Given the description of an element on the screen output the (x, y) to click on. 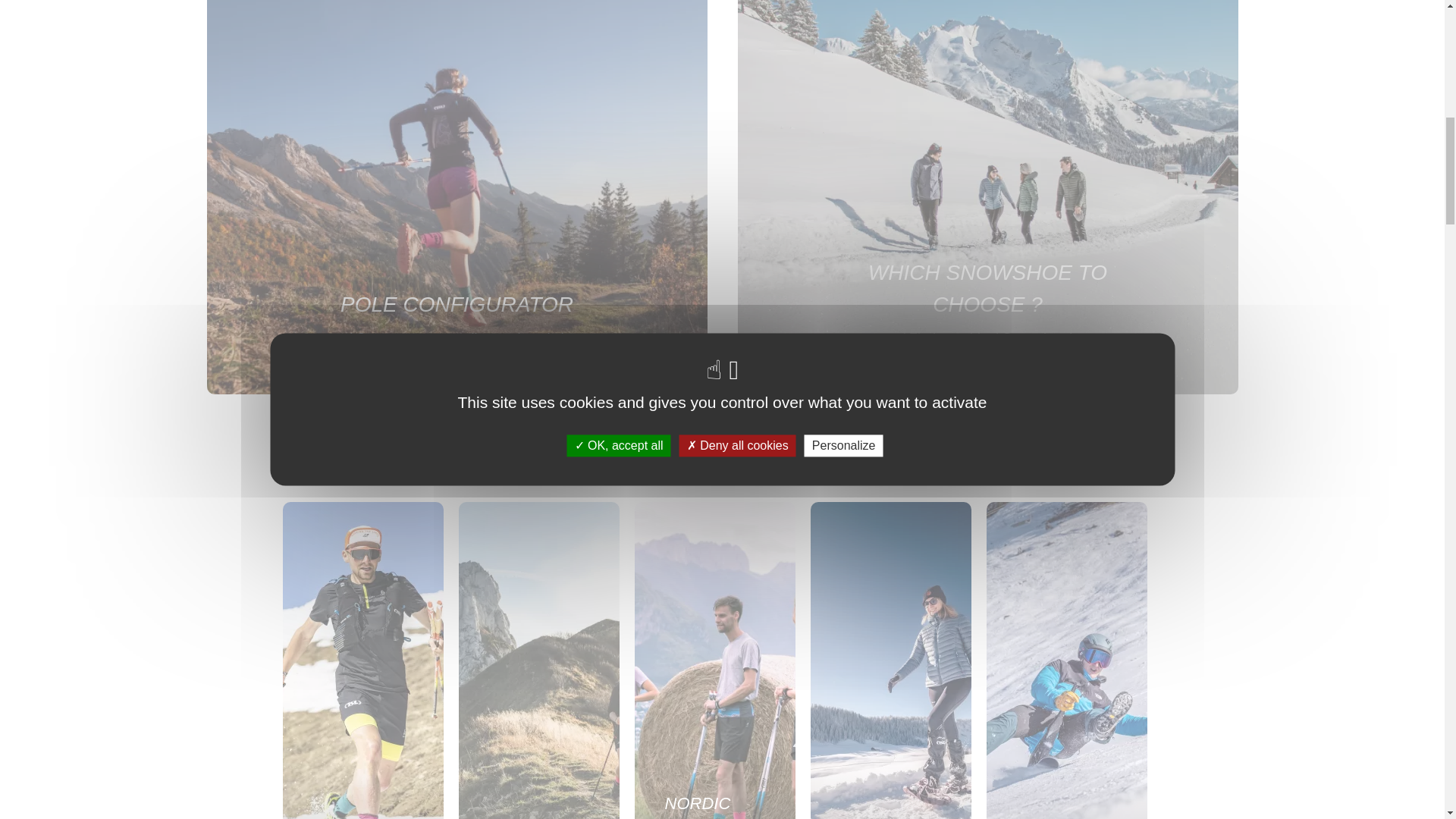
POLE CONFIGURATOR (456, 305)
WHICH SNOWSHOE TO CHOOSE ? (987, 289)
